Given the description of an element on the screen output the (x, y) to click on. 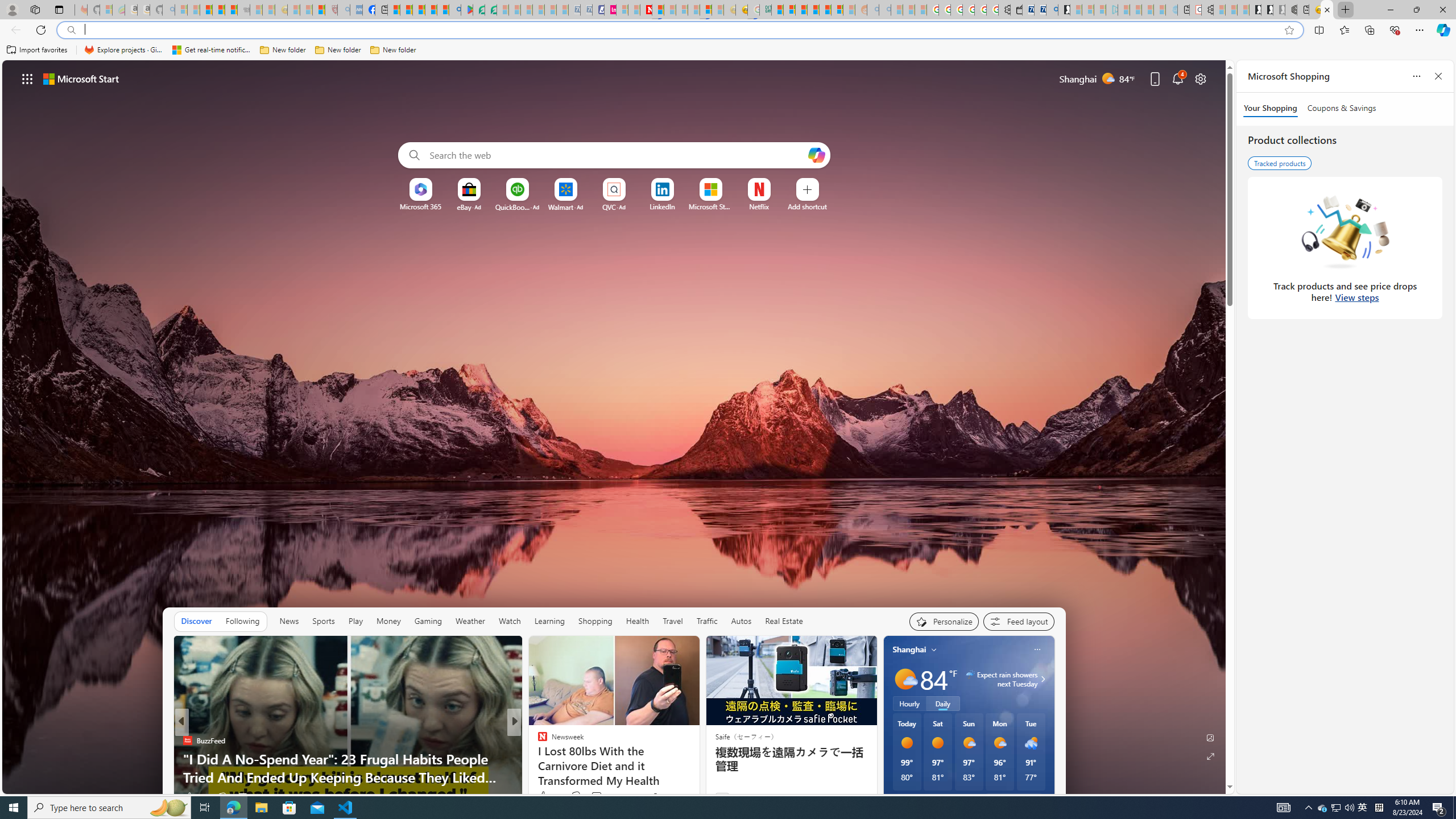
104 Like (545, 796)
View comments 13 Comment (592, 797)
I Lost 45 Pounds and Kept It Off With These Simple Changes (697, 767)
Mostly sunny (904, 678)
